Given the description of an element on the screen output the (x, y) to click on. 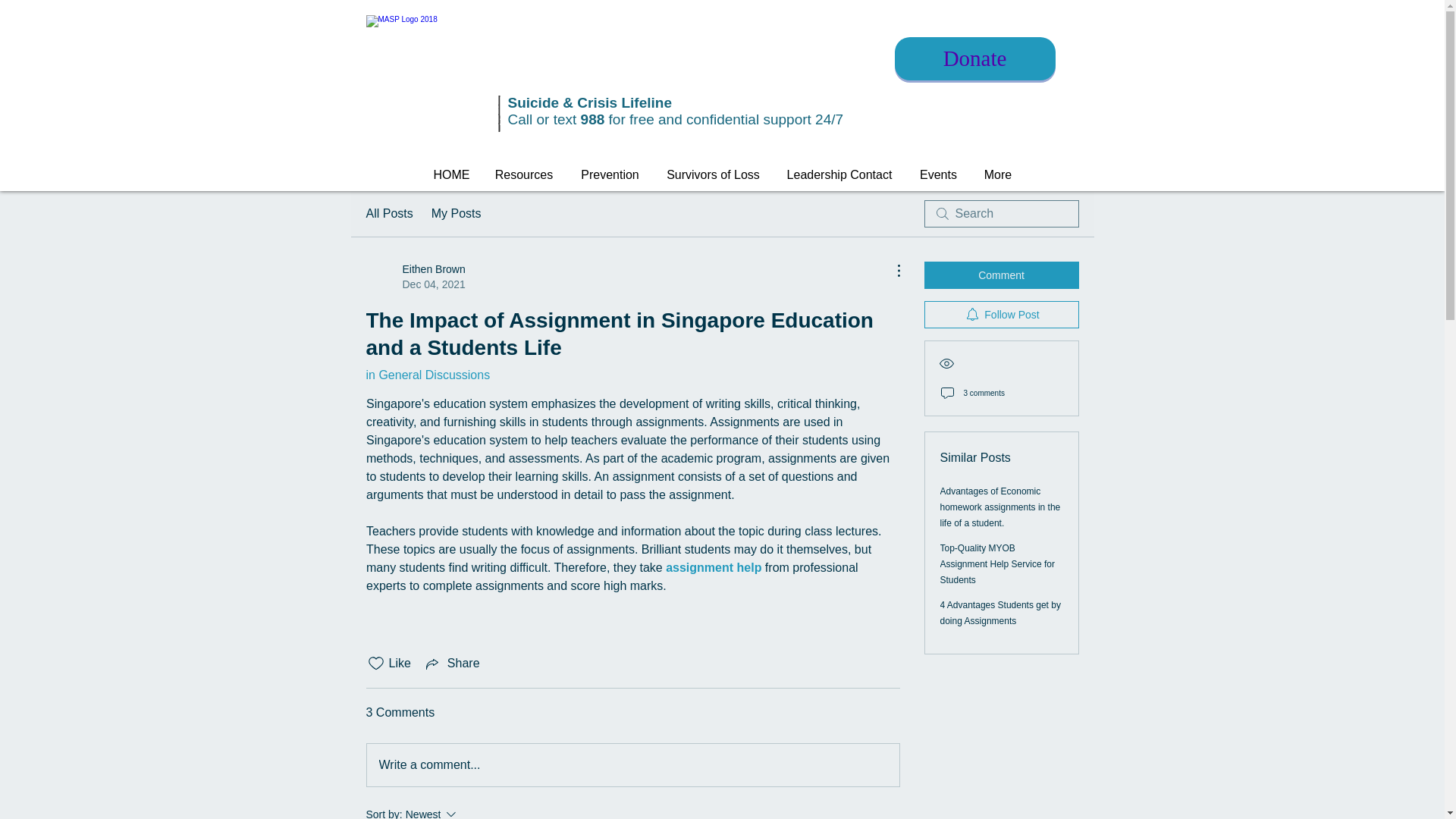
HOME (451, 174)
assignment help (713, 567)
Write a comment... (632, 764)
My Posts (455, 213)
Share (414, 276)
All Posts (451, 663)
Events (388, 213)
Leadership Contact (938, 174)
in General Discussions (839, 174)
